Given the description of an element on the screen output the (x, y) to click on. 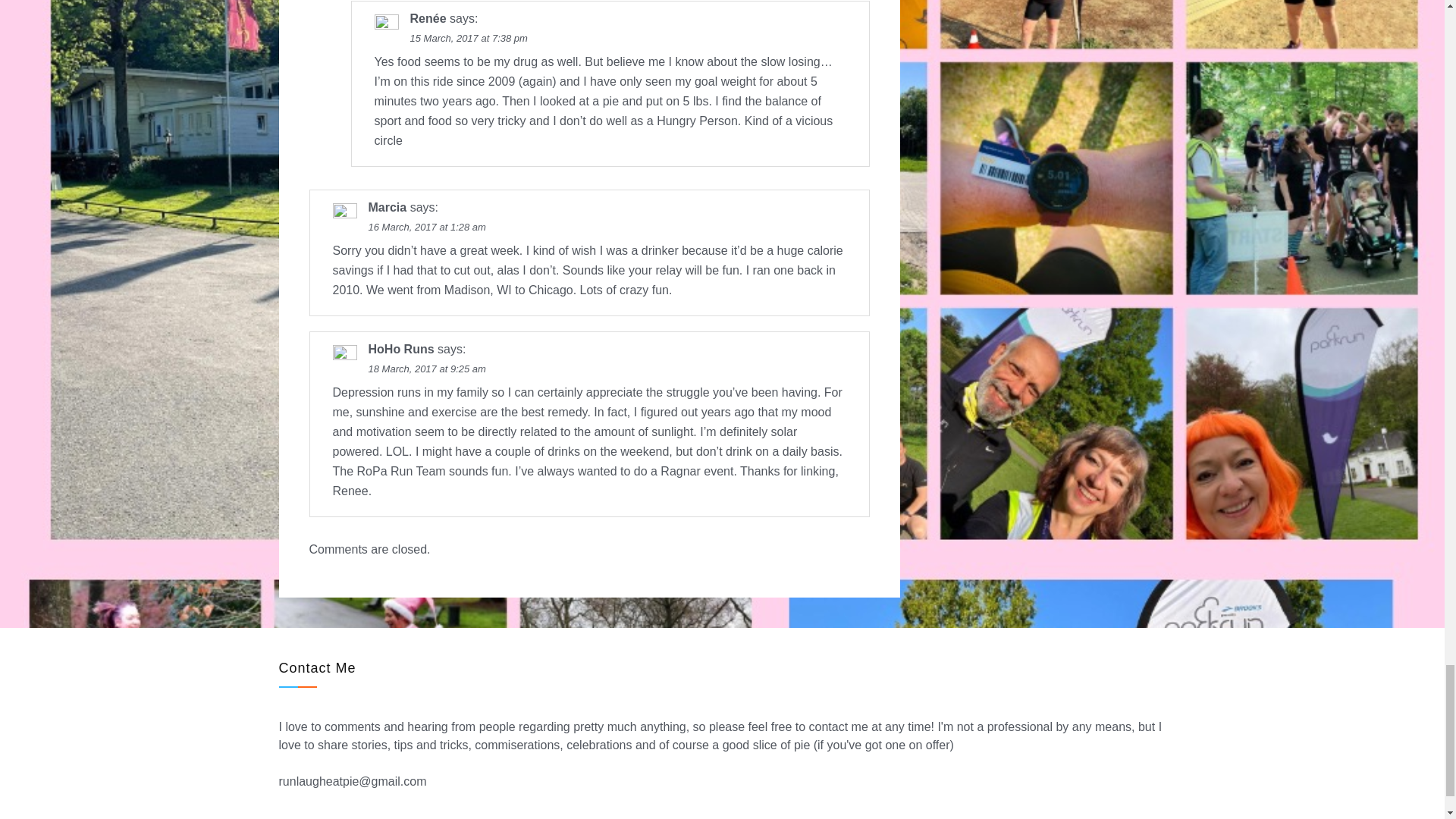
HoHo Runs (400, 349)
18 March, 2017 at 9:25 am (427, 368)
15 March, 2017 at 7:38 pm (468, 38)
Marcia (387, 206)
16 March, 2017 at 1:28 am (427, 226)
